Given the description of an element on the screen output the (x, y) to click on. 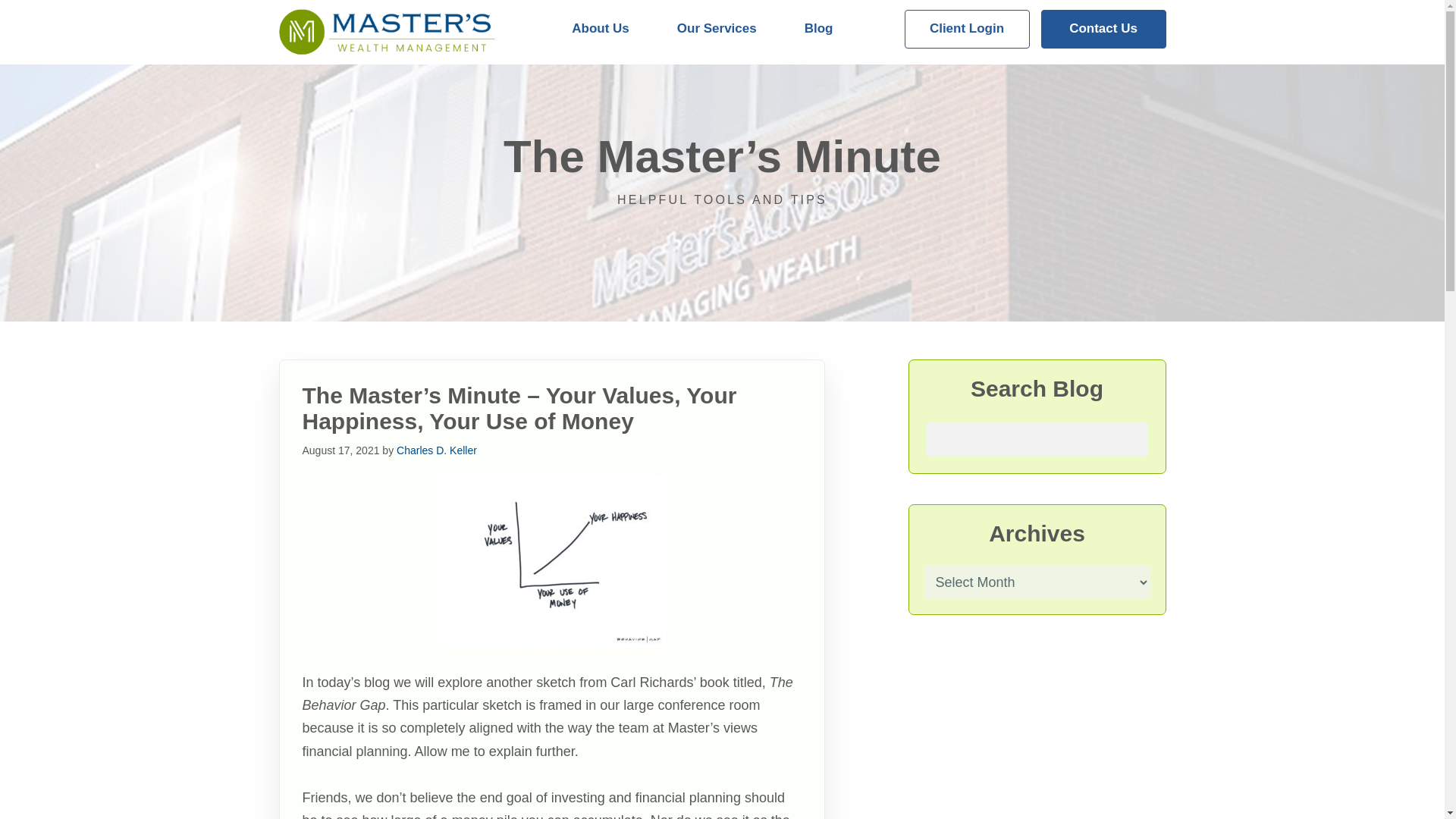
Client Login (966, 28)
Charles D. Keller (436, 450)
About Us (600, 28)
Contact Us (1103, 28)
MASTERS WEALTH MANAGEMENT (387, 31)
Our Services (717, 28)
